Given the description of an element on the screen output the (x, y) to click on. 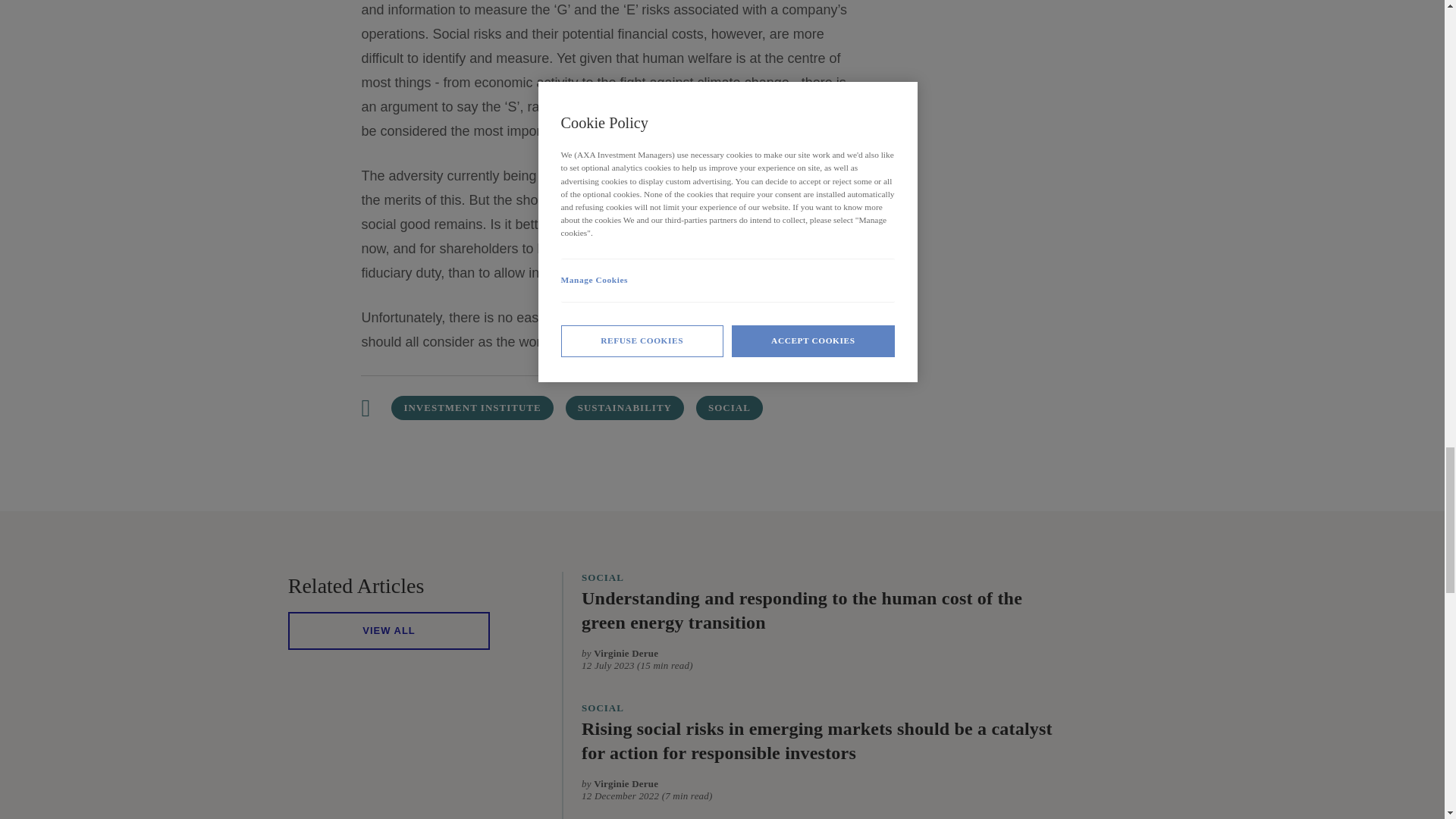
Explore Investment Institute insights (472, 407)
Explore Social insights (728, 407)
Explore Sustainability insights (625, 407)
